Given the description of an element on the screen output the (x, y) to click on. 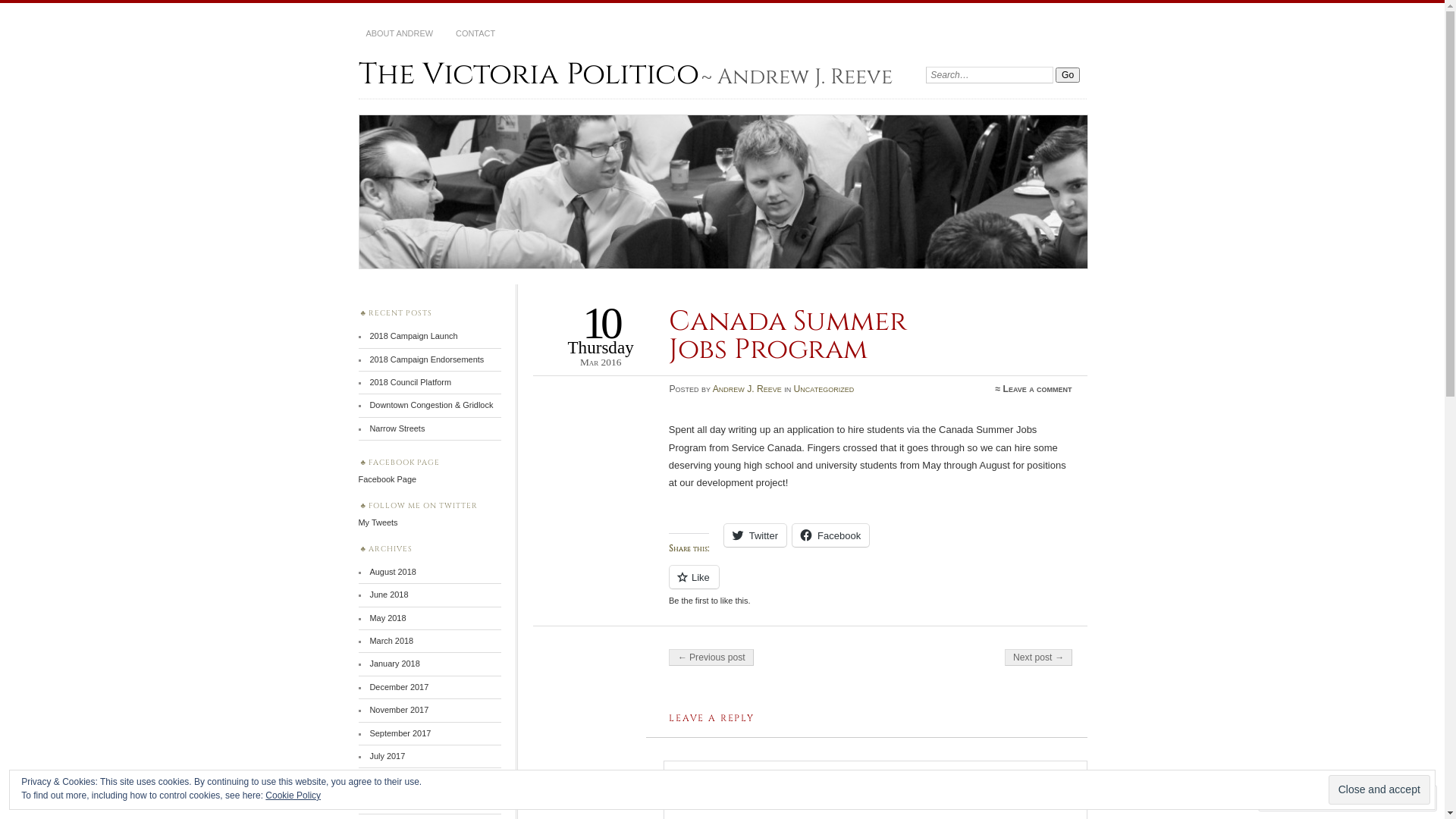
March 2017 Element type: text (391, 801)
Uncategorized Element type: text (823, 388)
Comment Element type: text (1299, 797)
Go Element type: text (1067, 74)
FACEBOOK PAGE Element type: text (403, 462)
Narrow Streets Element type: text (396, 428)
December 2017 Element type: text (398, 686)
Like or Reblog Element type: hover (870, 585)
2018 Campaign Endorsements Element type: text (426, 359)
Twitter Element type: text (755, 535)
September 2017 Element type: text (399, 732)
The Victoria Politico Element type: text (527, 74)
Facebook Element type: text (830, 535)
April 2017 Element type: text (387, 778)
Downtown Congestion & Gridlock Element type: text (430, 404)
January 2018 Element type: text (394, 663)
Close and accept Element type: text (1379, 789)
May 2018 Element type: text (387, 617)
Leave a comment Element type: text (1037, 388)
Follow Element type: text (1374, 797)
Andrew J. Reeve Element type: text (746, 388)
June 2018 Element type: text (388, 594)
Cookie Policy Element type: text (292, 795)
The Victoria Politico Element type: hover (722, 191)
2018 Council Platform Element type: text (410, 381)
March 2018 Element type: text (391, 640)
ABOUT ANDREW Element type: text (398, 33)
Facebook Page Element type: text (386, 478)
November 2017 Element type: text (398, 709)
2018 Campaign Launch Element type: text (413, 335)
July 2017 Element type: text (386, 755)
My Tweets Element type: text (377, 522)
CONTACT Element type: text (475, 33)
August 2018 Element type: text (392, 571)
